Given the description of an element on the screen output the (x, y) to click on. 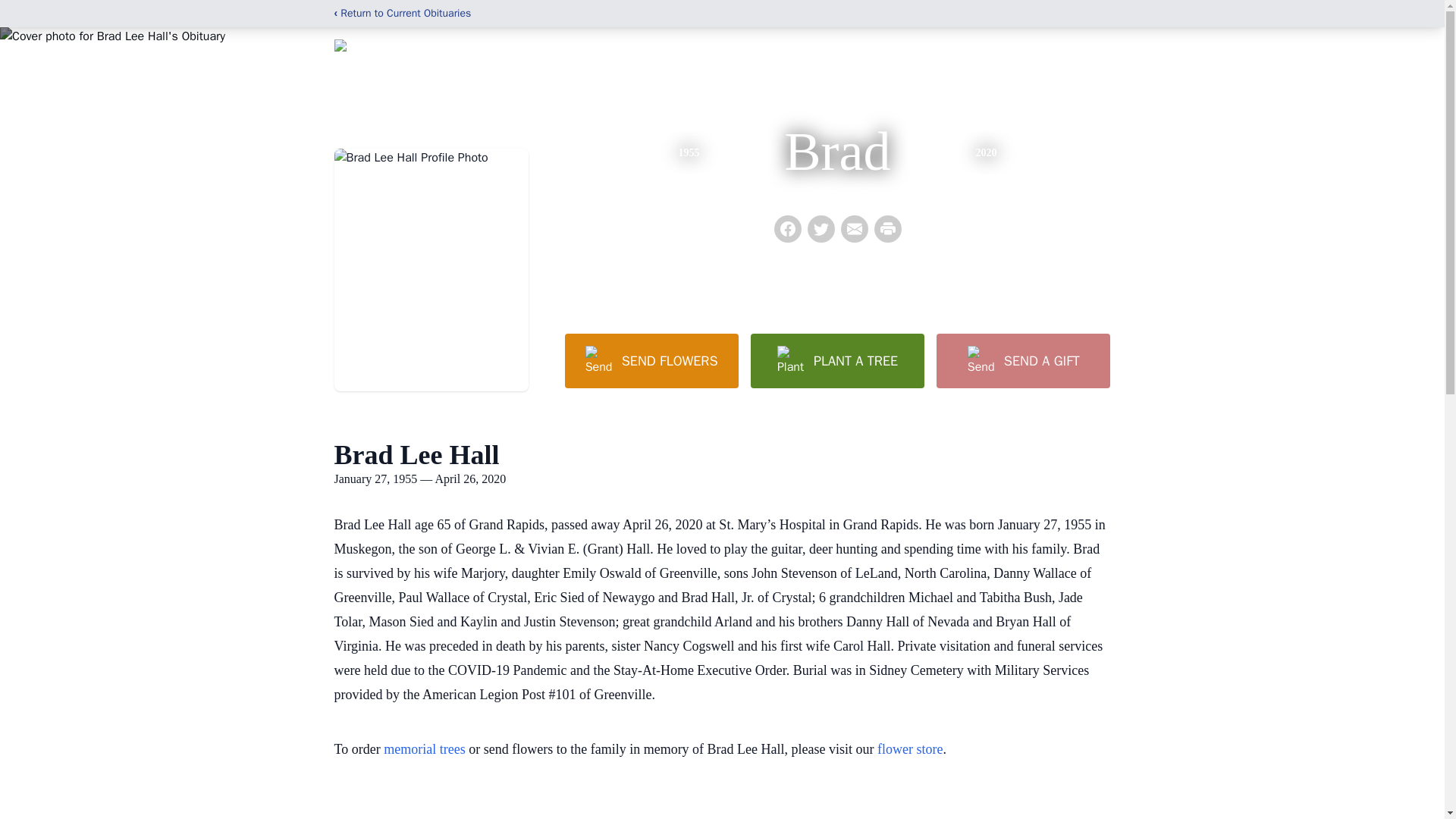
PLANT A TREE (837, 360)
memorial trees (424, 749)
flower store (909, 749)
SEND FLOWERS (651, 360)
SEND A GIFT (1022, 360)
